Given the description of an element on the screen output the (x, y) to click on. 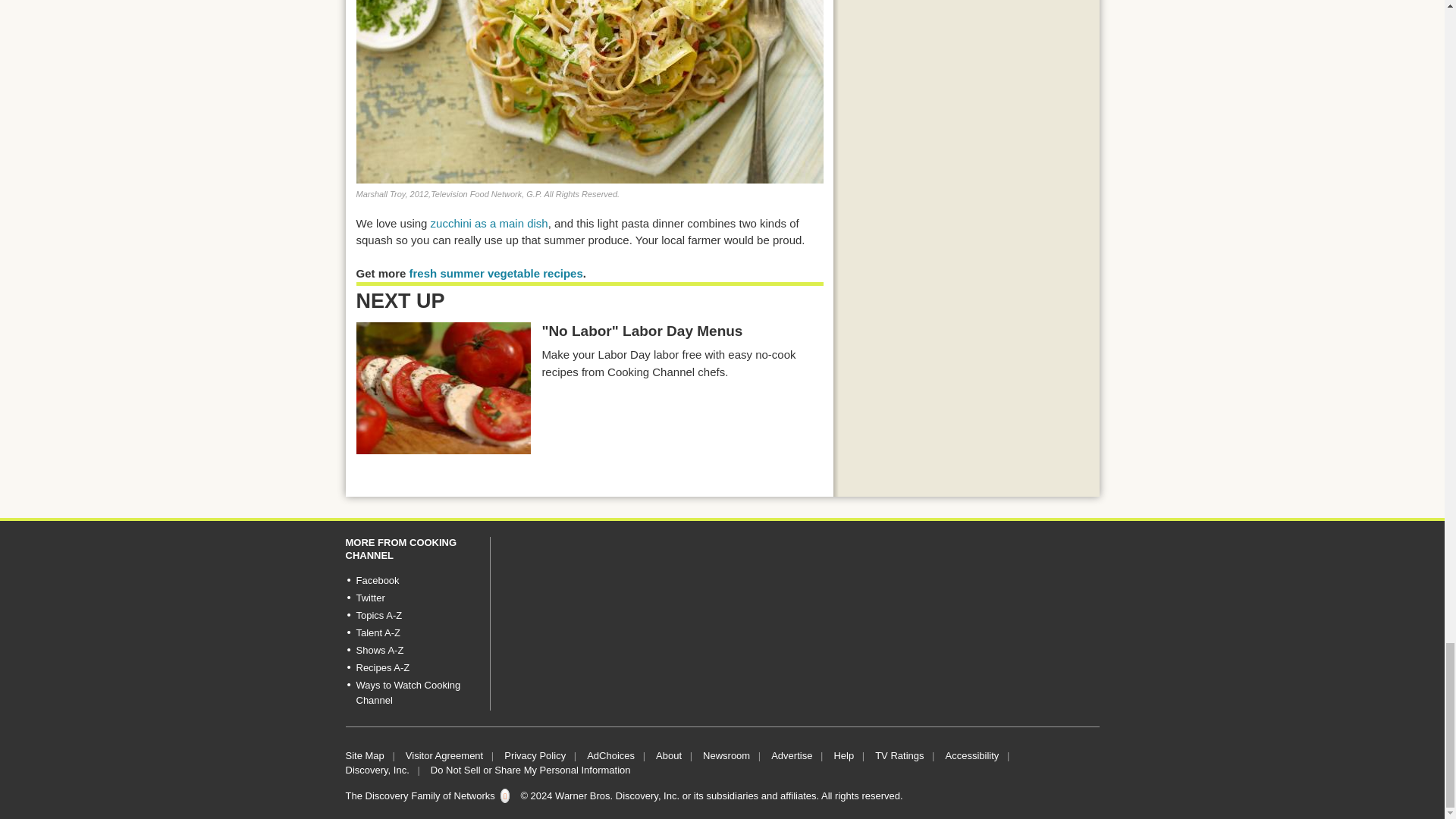
zucchini-ribbon-pasta-recipe (590, 91)
